Given the description of an element on the screen output the (x, y) to click on. 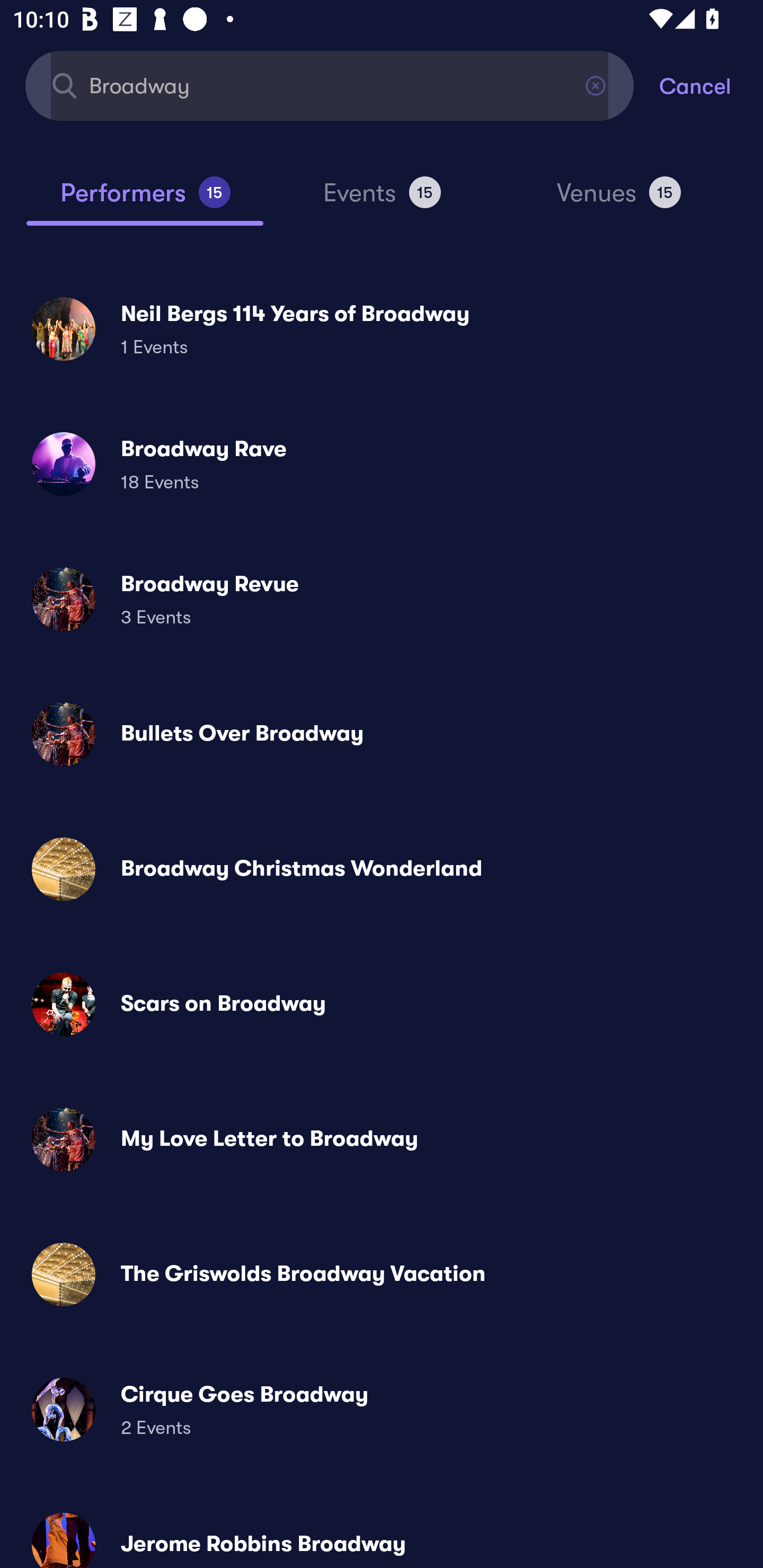
Broadway Find (329, 85)
Broadway Find (329, 85)
Cancel (711, 85)
Performers 15 (144, 200)
Events 15 (381, 200)
Venues 15 (618, 200)
Neil Bergs 114 Years of Broadway 1 Events (381, 328)
Broadway Rave 18 Events (381, 464)
Broadway Revue 3 Events (381, 598)
Bullets Over Broadway (381, 734)
Broadway Christmas Wonderland (381, 869)
Scars on Broadway (381, 1004)
My Love Letter to Broadway (381, 1138)
The Griswolds Broadway Vacation (381, 1273)
Cirque Goes Broadway 2 Events (381, 1409)
Jerome Robbins Broadway (381, 1532)
